Given the description of an element on the screen output the (x, y) to click on. 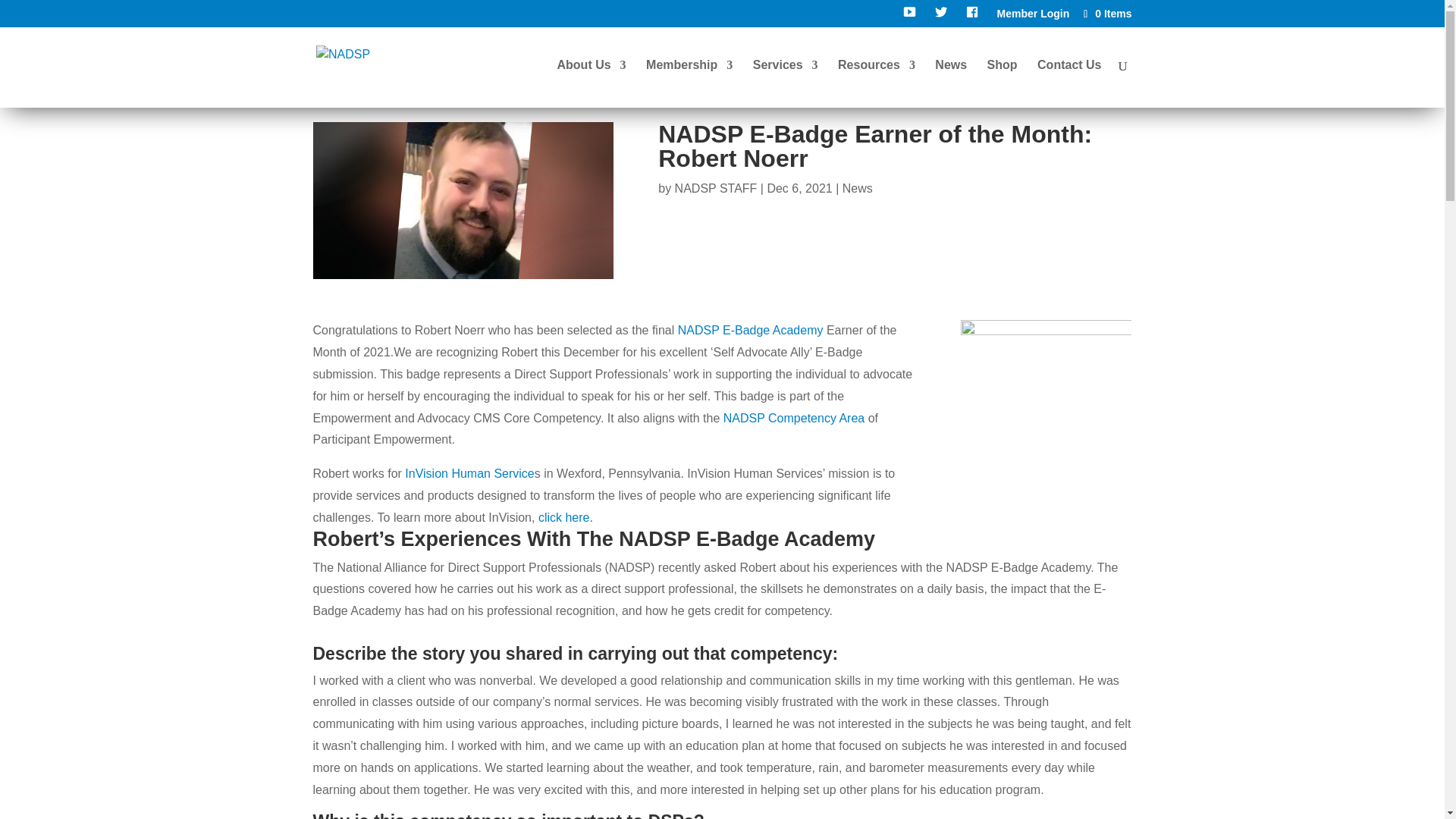
NADSP E-Badge Academy (751, 329)
NADSP STAFF (716, 187)
NADSP Self Advocate Ally Icon 8-21-19 COLOR 2 (1045, 405)
NADSP Competency Area (793, 418)
NADSP-Featured-EBA-Earner-Robert-Noerr (462, 200)
Membership (689, 83)
News (857, 187)
Member Login (1033, 16)
About Us (591, 83)
Contact Us (1068, 83)
